Given the description of an element on the screen output the (x, y) to click on. 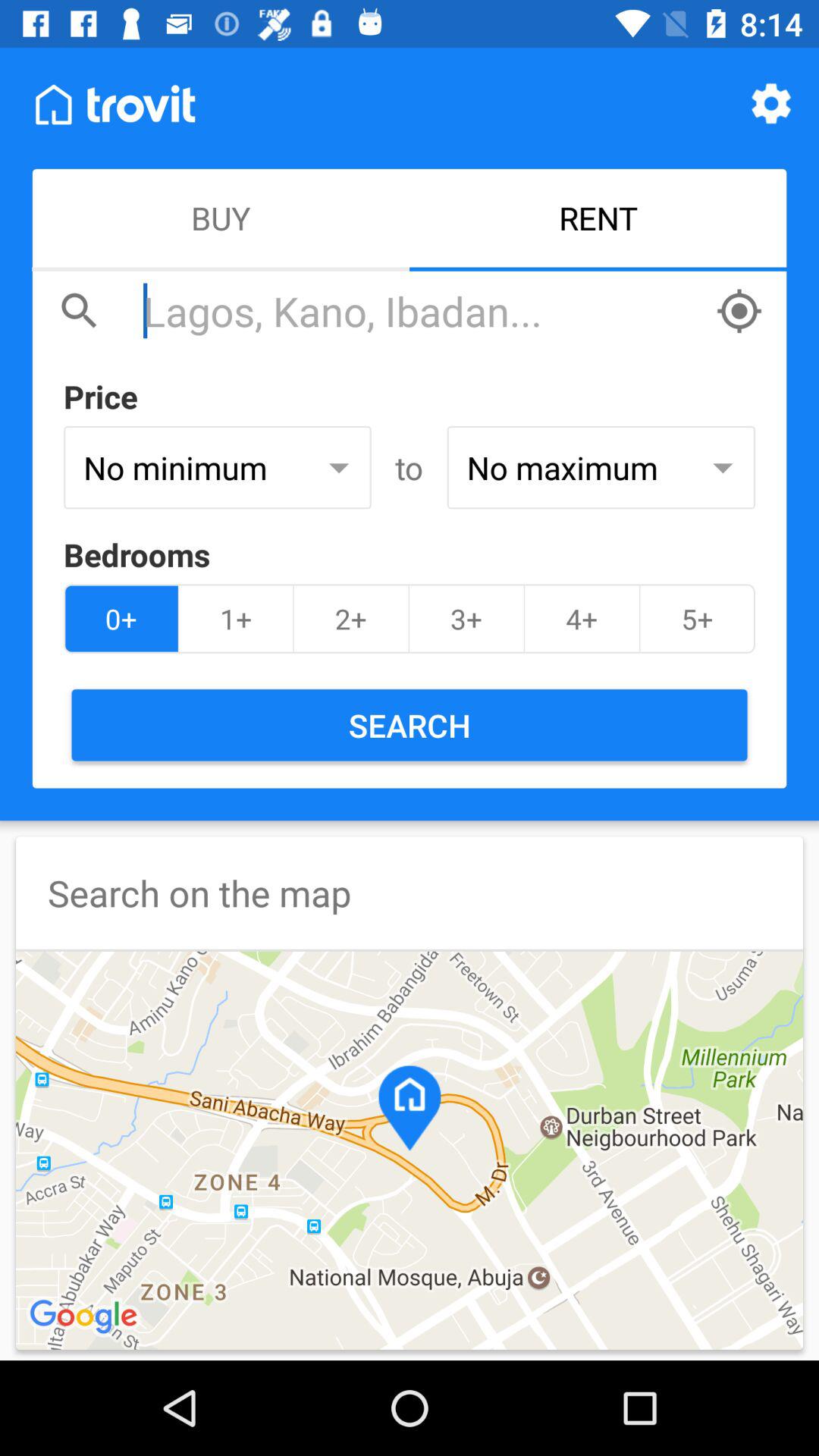
a search for any location in the app (421, 310)
